Given the description of an element on the screen output the (x, y) to click on. 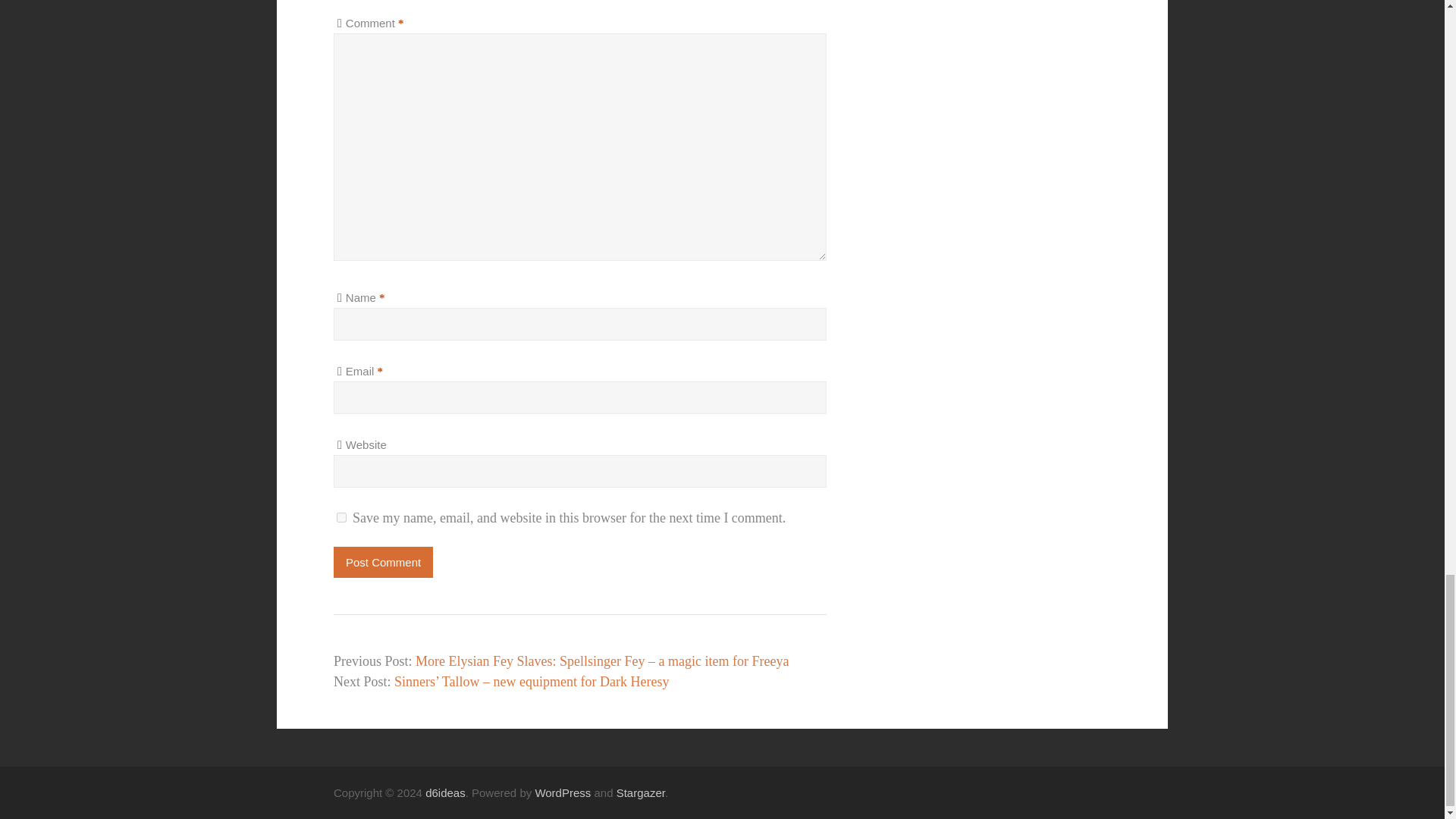
yes (341, 517)
Post Comment (382, 562)
Post Comment (382, 562)
